Given the description of an element on the screen output the (x, y) to click on. 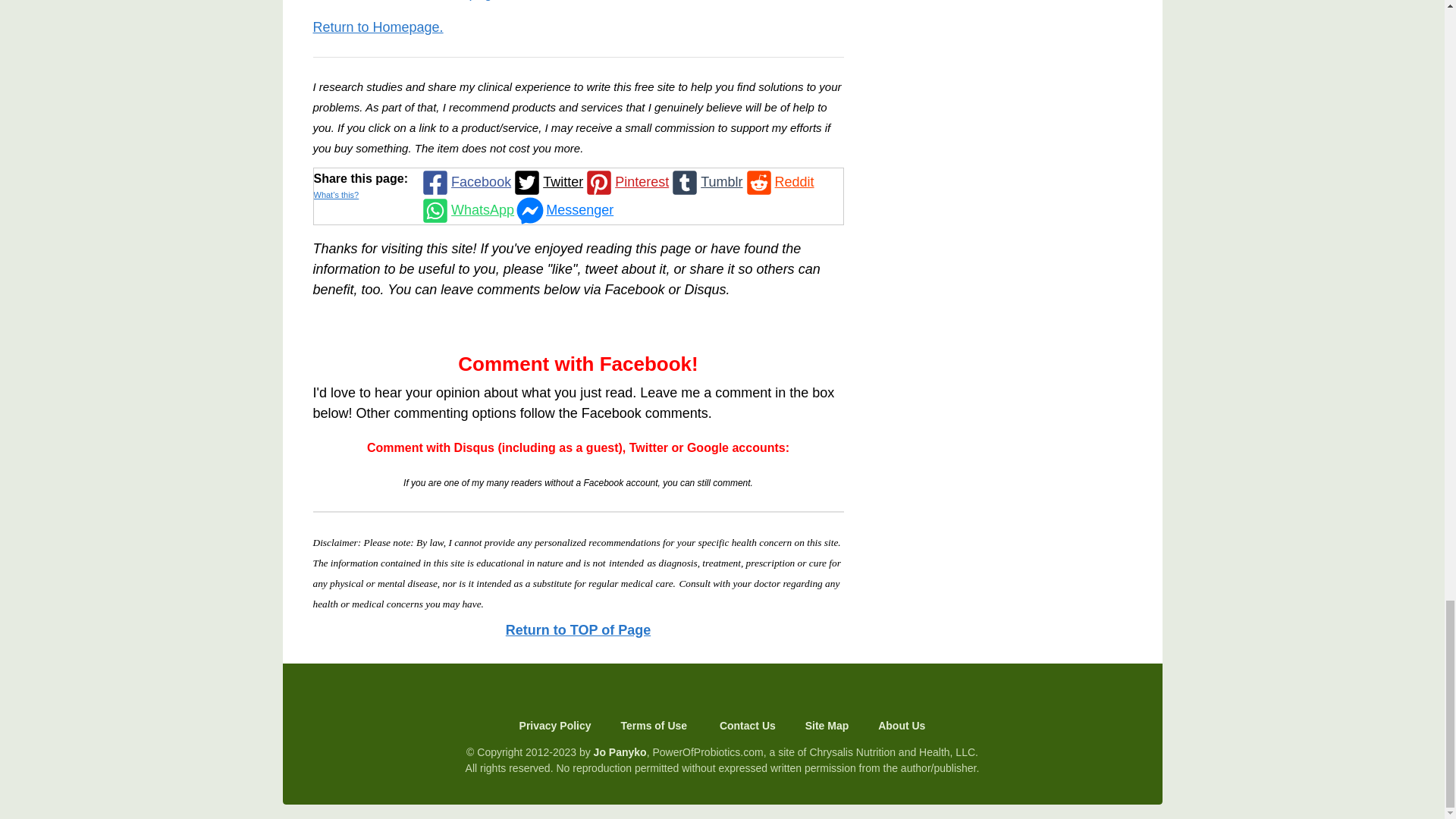
WhatsApp (466, 210)
Return to Homepage. (377, 27)
Terms of Use  (655, 725)
Twitter (547, 182)
Site Map (826, 725)
Messenger (562, 210)
Privacy Policy    (559, 725)
Reddit (777, 182)
Pinterest (625, 182)
Facebook (465, 182)
Tumblr (705, 182)
Return to TOP of Page (577, 630)
Contact Us (747, 725)
